Given the description of an element on the screen output the (x, y) to click on. 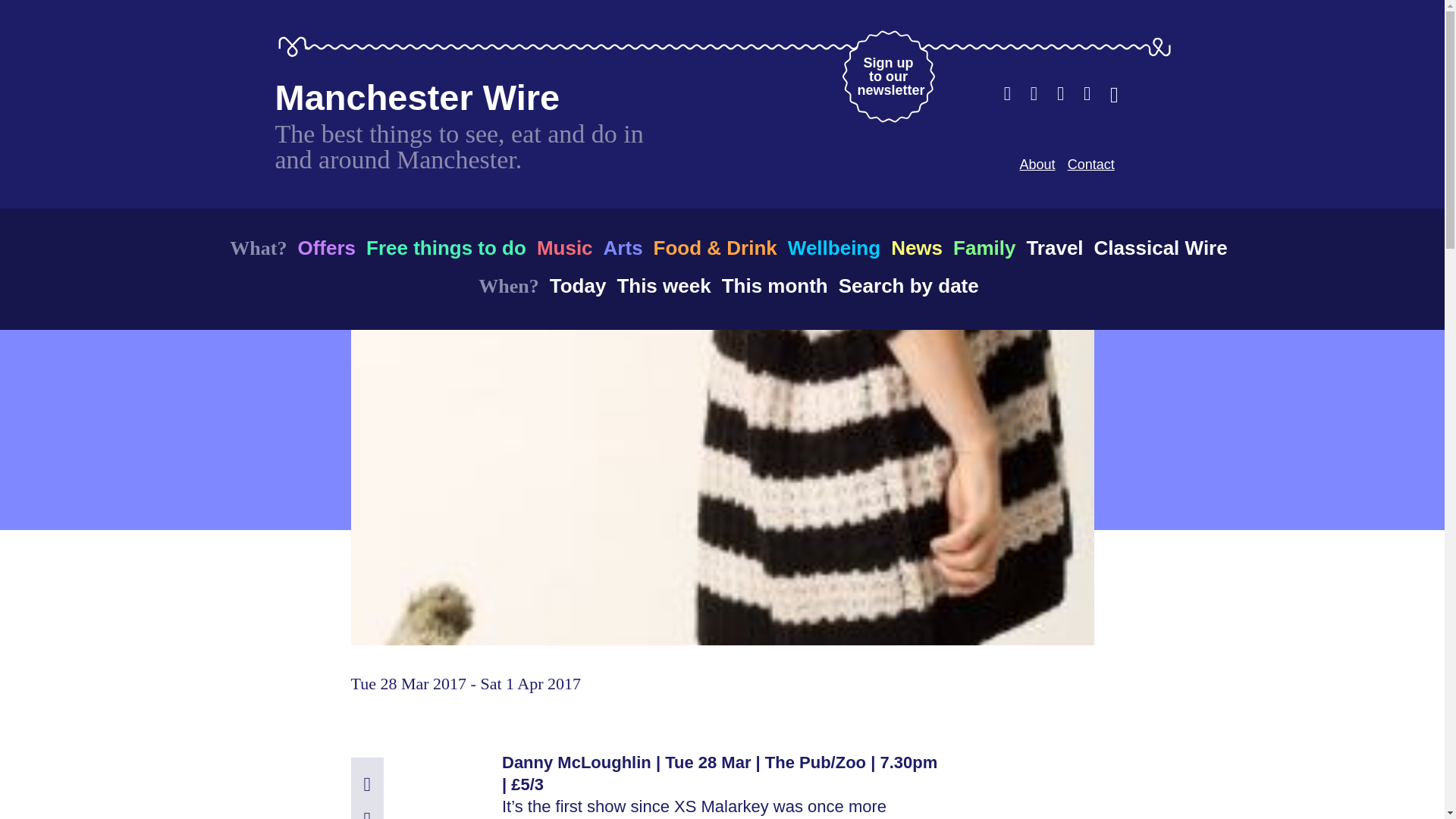
Travel (1054, 248)
This week (662, 285)
About (1036, 164)
Manchester Wire (417, 96)
Contact (887, 76)
Free things to do (1091, 164)
Wellbeing (445, 248)
Offers (833, 248)
Today (326, 248)
News (578, 285)
Arts (916, 248)
This month (623, 248)
Music (775, 285)
Classical Wire (564, 248)
